Given the description of an element on the screen output the (x, y) to click on. 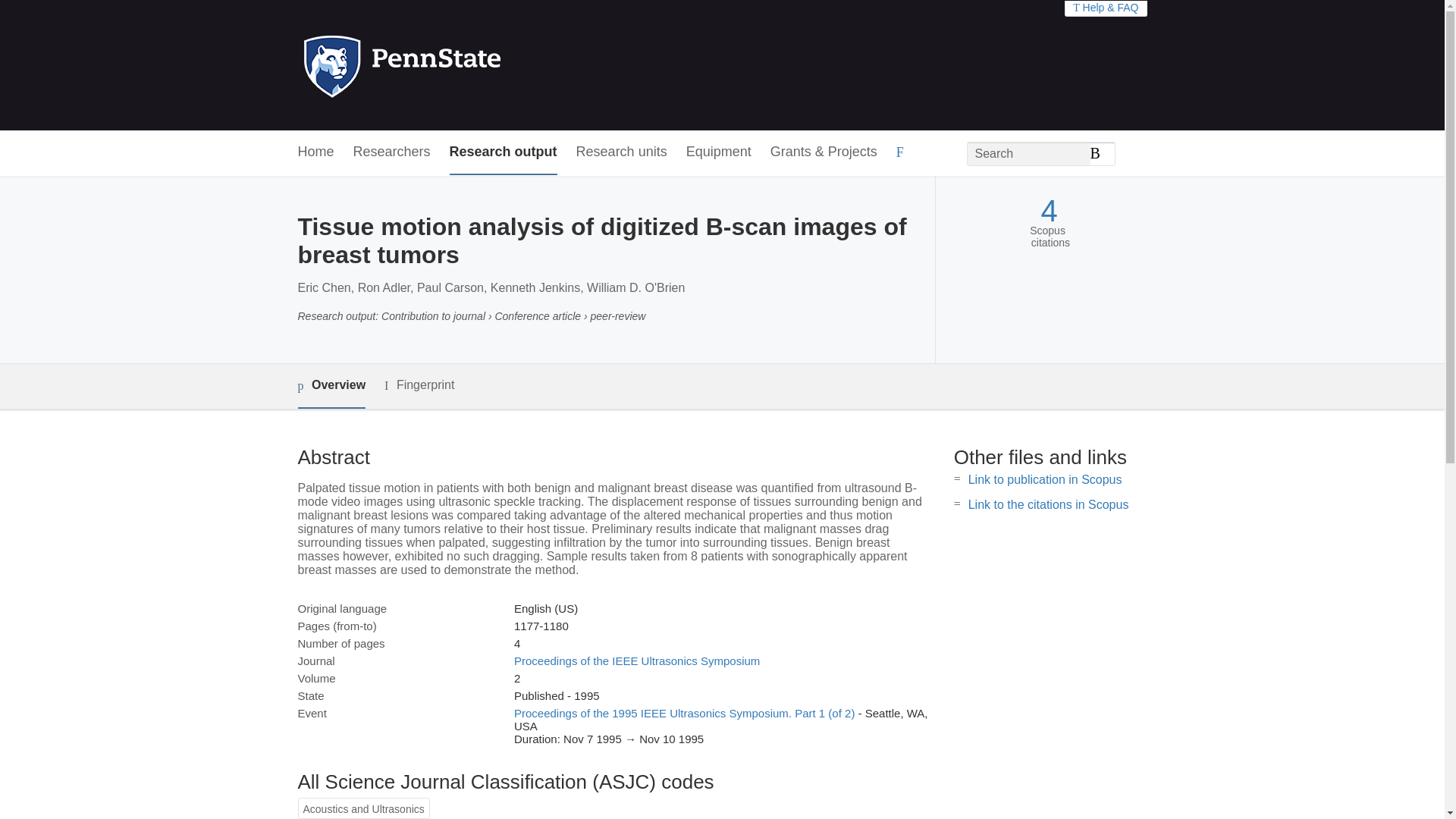
Equipment (718, 152)
Link to the citations in Scopus (1048, 504)
Penn State Home (467, 65)
Proceedings of the IEEE Ultrasonics Symposium (636, 660)
Fingerprint (419, 385)
Link to publication in Scopus (1045, 479)
Researchers (391, 152)
Research output (503, 152)
Overview (331, 385)
Research units (621, 152)
